Given the description of an element on the screen output the (x, y) to click on. 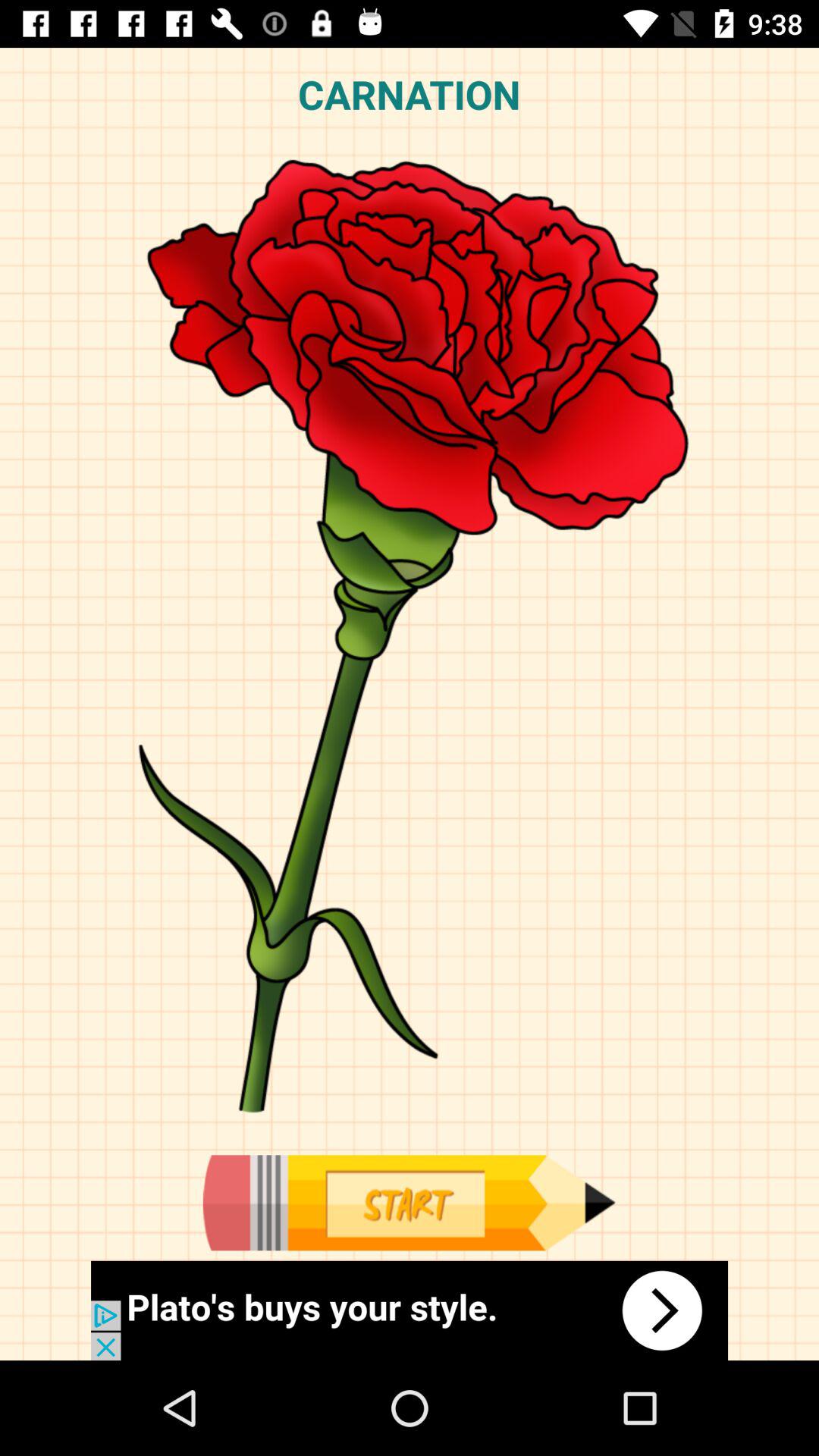
start game (409, 1202)
